Given the description of an element on the screen output the (x, y) to click on. 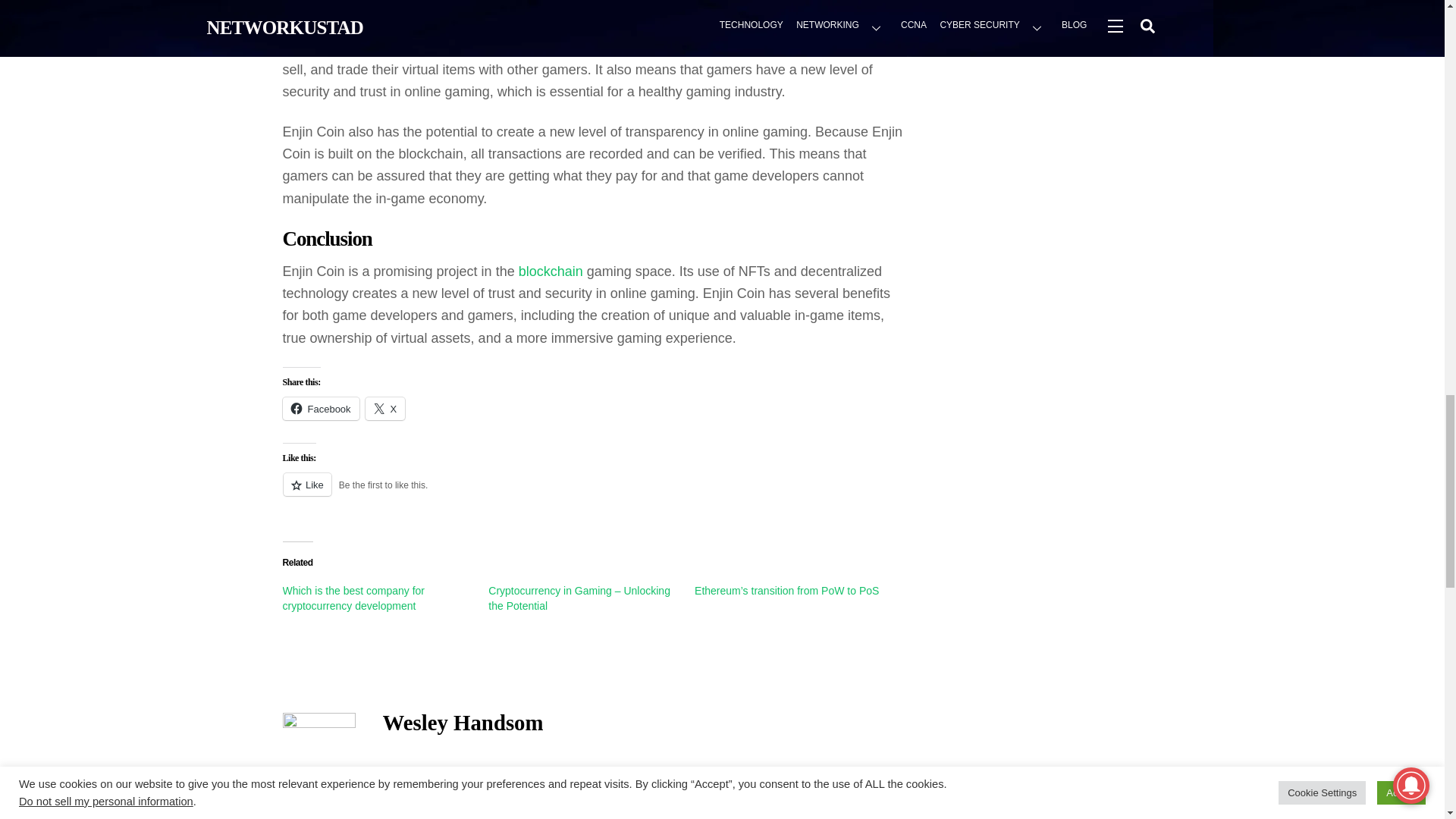
Click to share on X (385, 408)
Click to share on Facebook (320, 408)
X (385, 408)
Facebook (320, 408)
Which is the best company for cryptocurrency development (353, 597)
Which is the best company for cryptocurrency development (353, 597)
blockchain (550, 271)
Like or Reblog (594, 493)
